Given the description of an element on the screen output the (x, y) to click on. 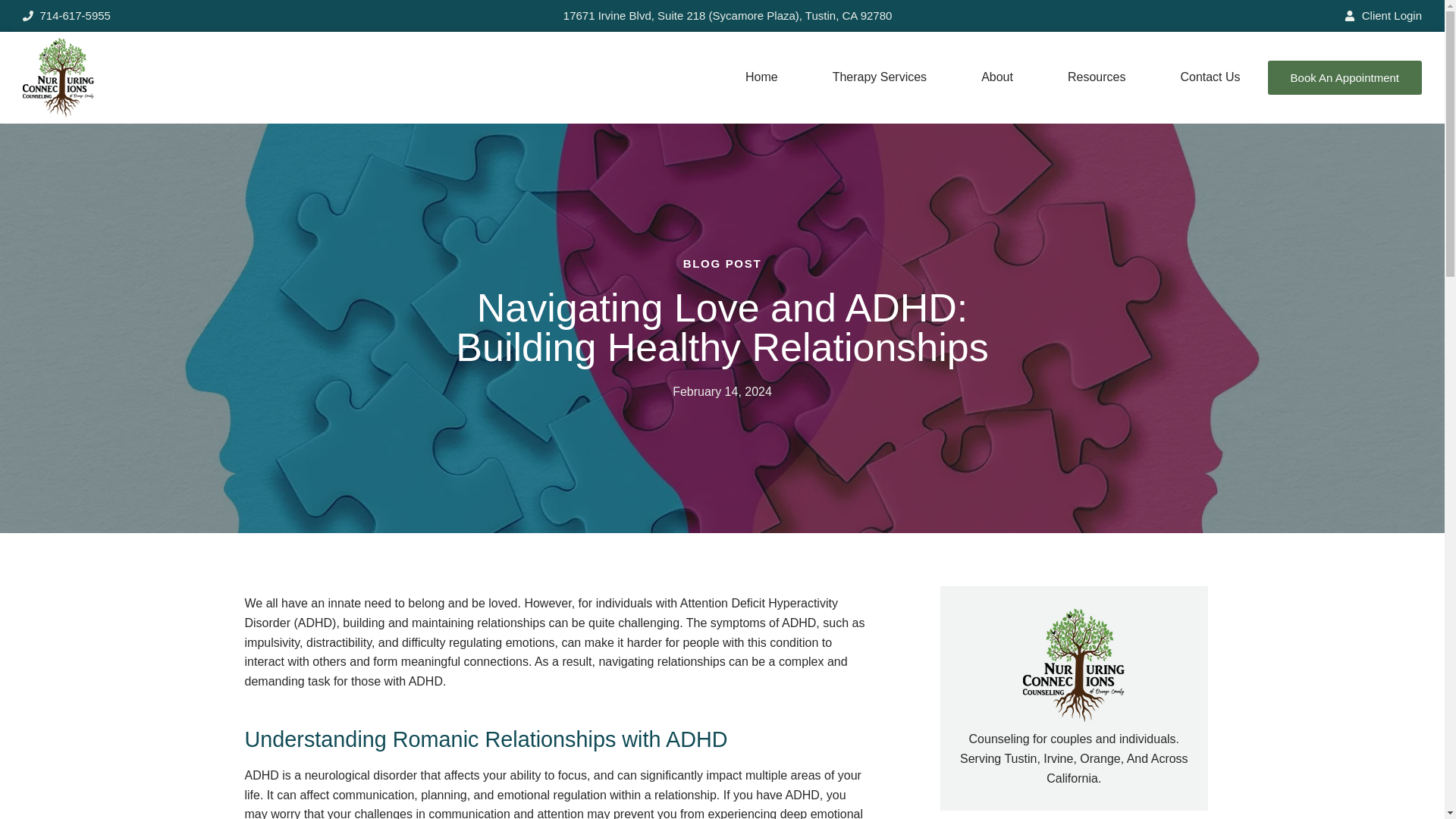
Contact Us (1209, 77)
About (997, 77)
714-617-5955 (66, 15)
Client Login (1382, 15)
Resources (1097, 77)
Therapy Services (880, 77)
Home (761, 77)
